Given the description of an element on the screen output the (x, y) to click on. 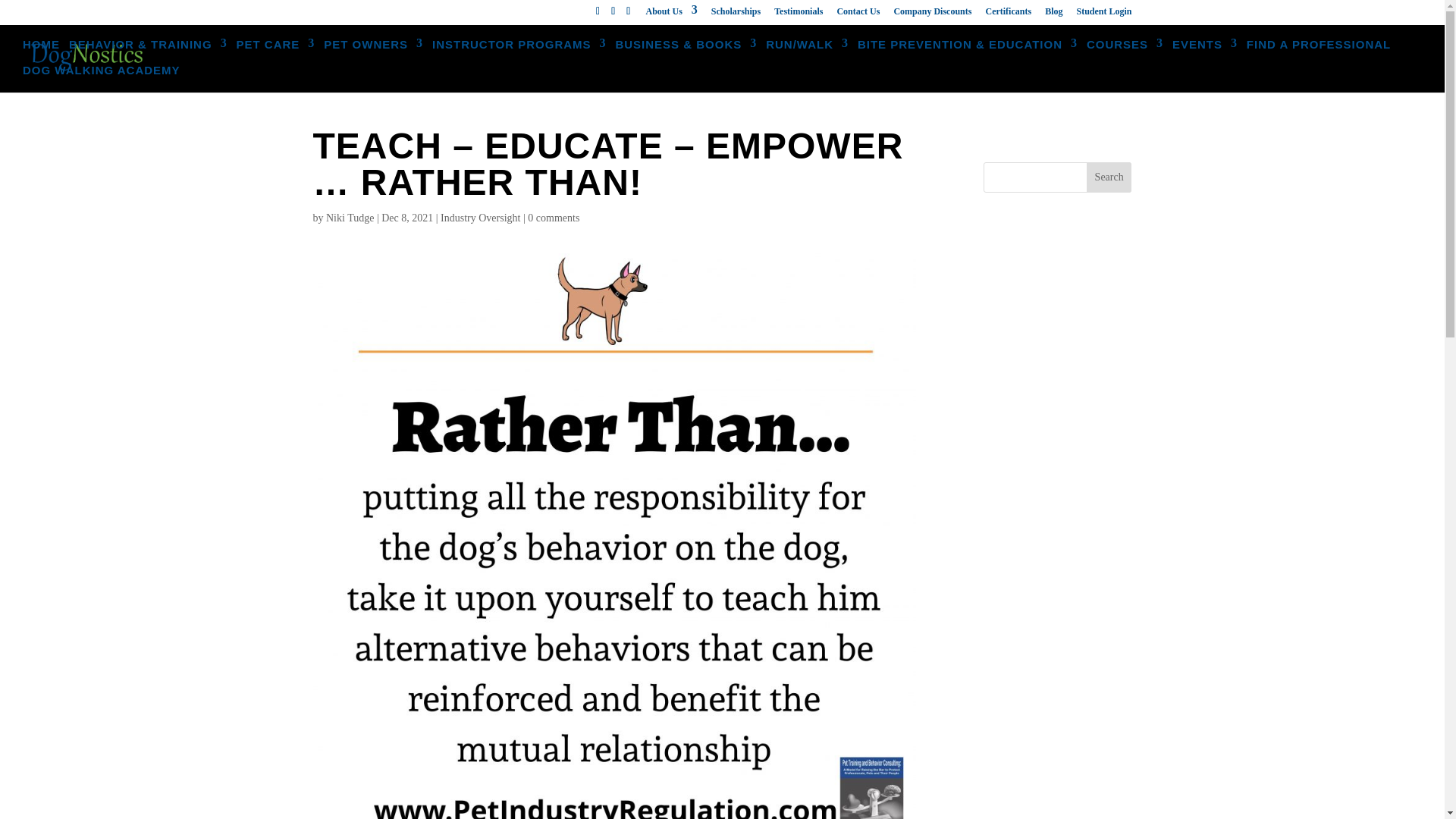
Scholarships (735, 14)
Student Login (1103, 14)
HOME (41, 53)
Contact Us (857, 14)
Company Discounts (932, 14)
Blog (1053, 14)
Certificants (1007, 14)
PET CARE (275, 53)
Search (1109, 177)
Testimonials (798, 14)
